Given the description of an element on the screen output the (x, y) to click on. 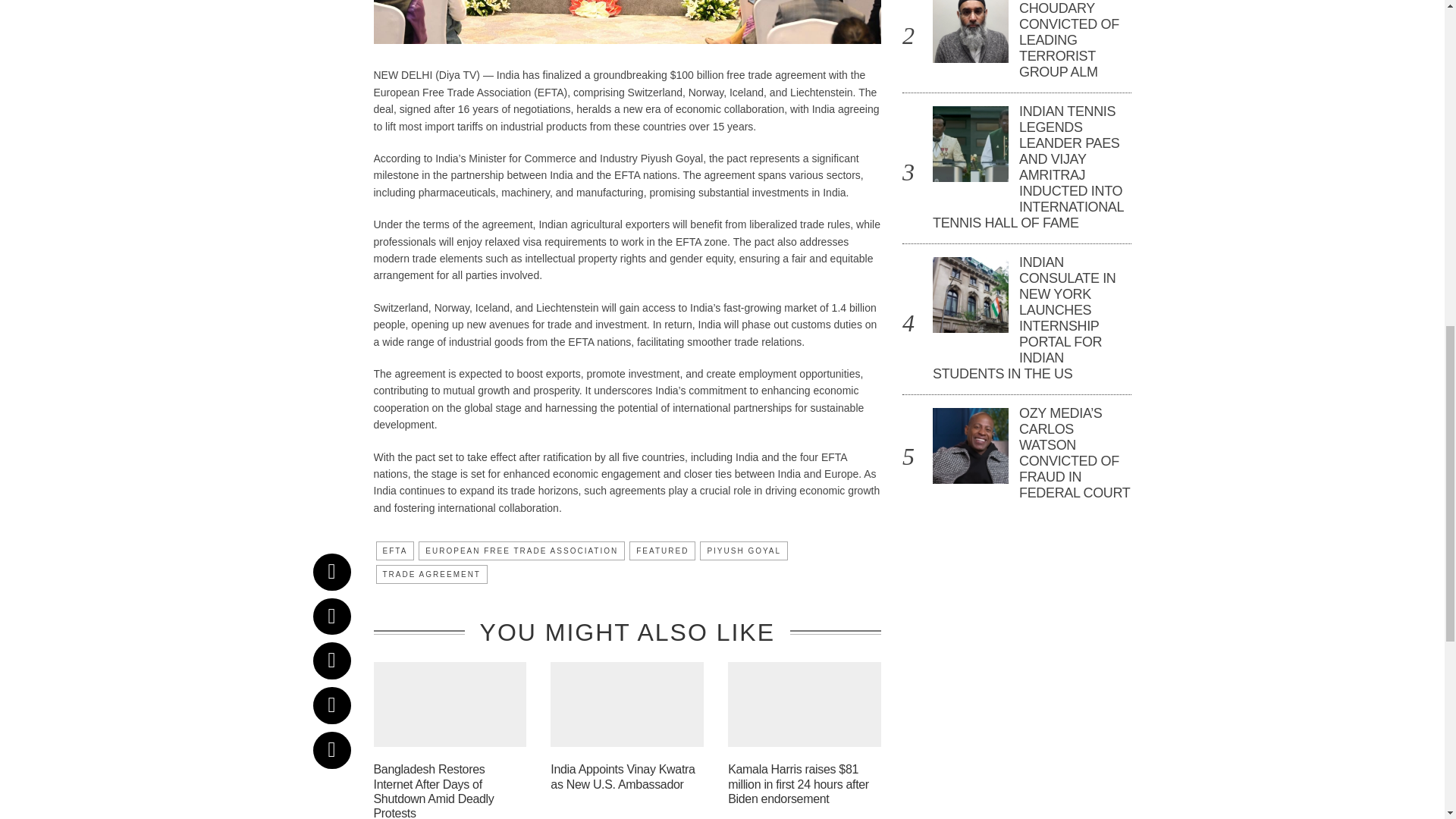
EUROPEAN FREE TRADE ASSOCIATION (521, 550)
PIYUSH GOYAL (743, 550)
FEATURED (661, 550)
India Appoints Vinay Kwatra as New U.S. Ambassador  (622, 776)
EFTA (394, 550)
TRADE AGREEMENT (431, 574)
